Given the description of an element on the screen output the (x, y) to click on. 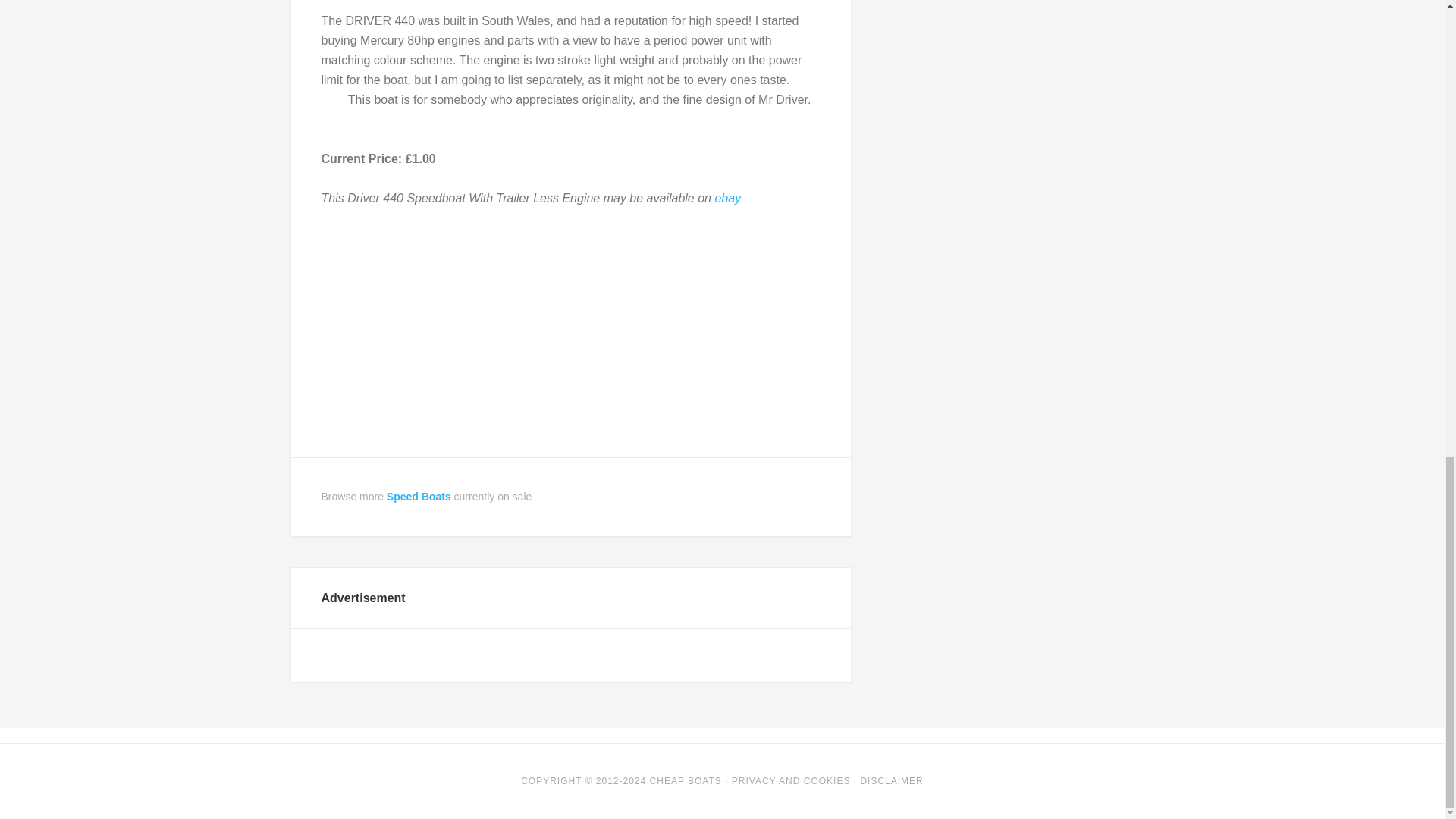
Speed Boats (419, 496)
Advertisement (571, 334)
DISCLAIMER (891, 780)
ebay (727, 197)
Cheap Boats for Sale (685, 780)
PRIVACY AND COOKIES (791, 780)
CHEAP BOATS (685, 780)
